Given the description of an element on the screen output the (x, y) to click on. 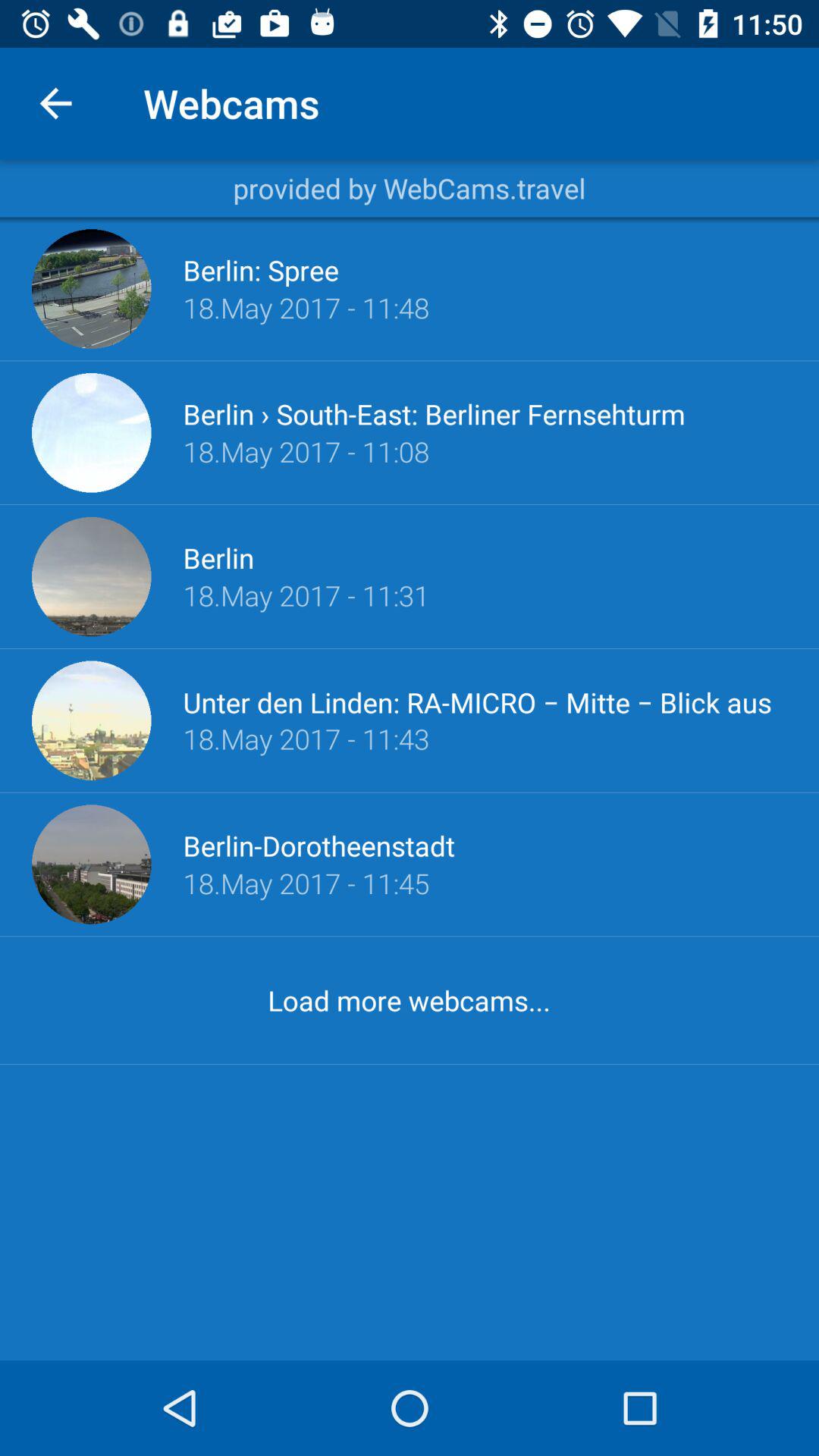
turn on berlin-dorotheenstadt item (319, 845)
